Given the description of an element on the screen output the (x, y) to click on. 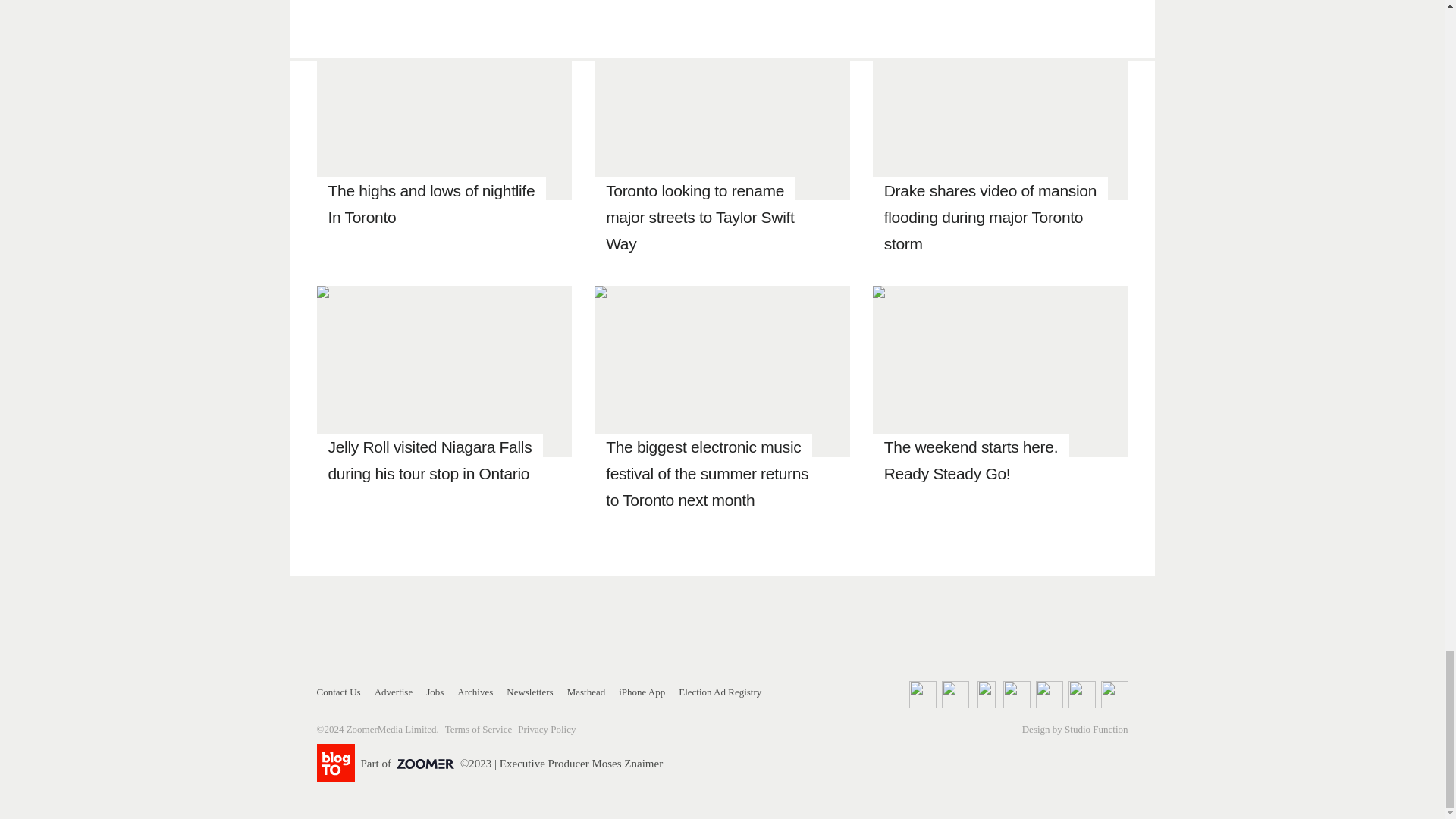
Contact Us (339, 691)
